Given the description of an element on the screen output the (x, y) to click on. 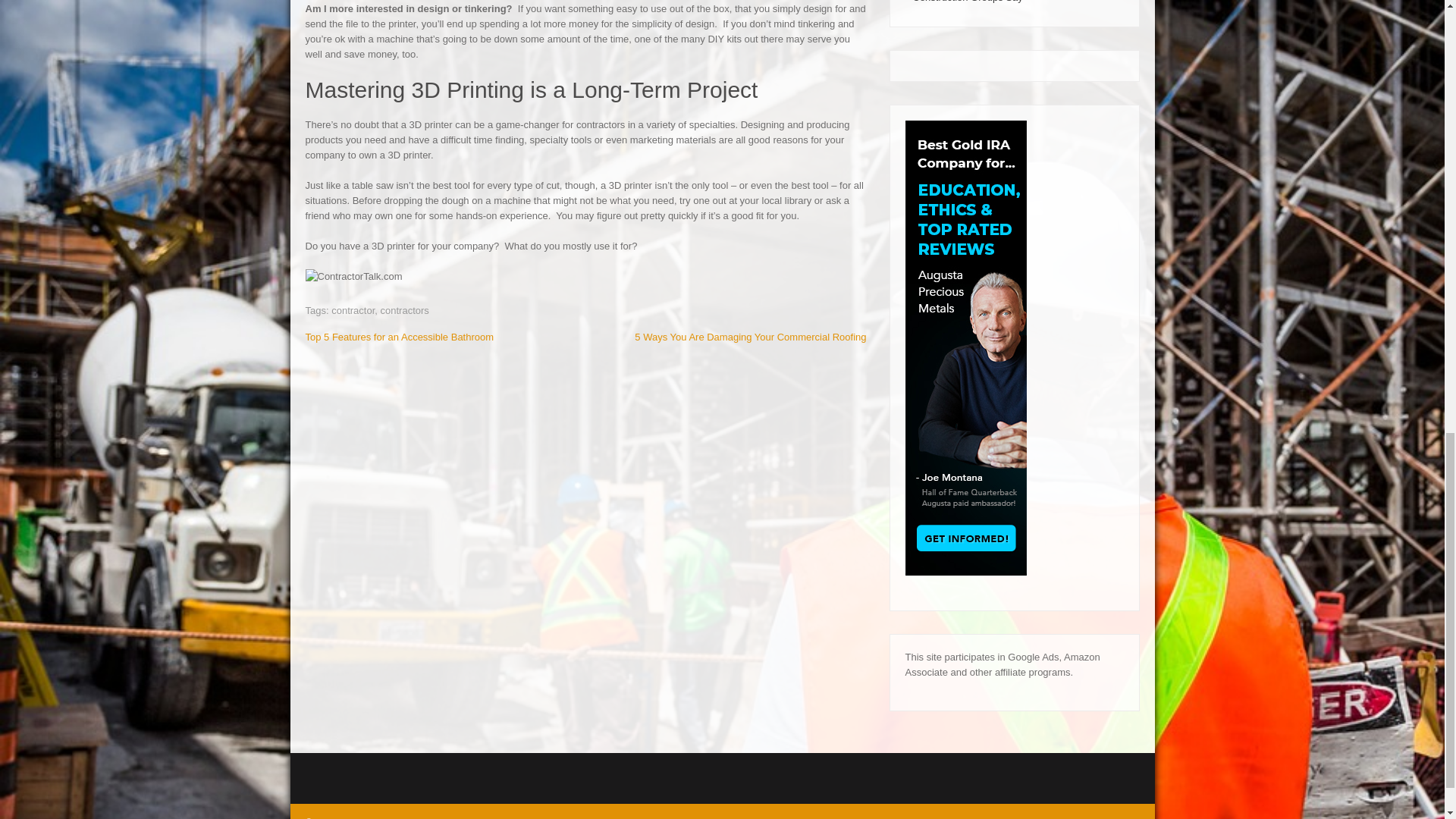
5 Ways You Are Damaging Your Commercial Roofing (750, 337)
contractor (352, 310)
Top 5 Features for an Accessible Bathroom (398, 337)
Proposed OSHA Heat Rule Too Rigid, Construction Groups Say (1014, 2)
contractors (404, 310)
